Given the description of an element on the screen output the (x, y) to click on. 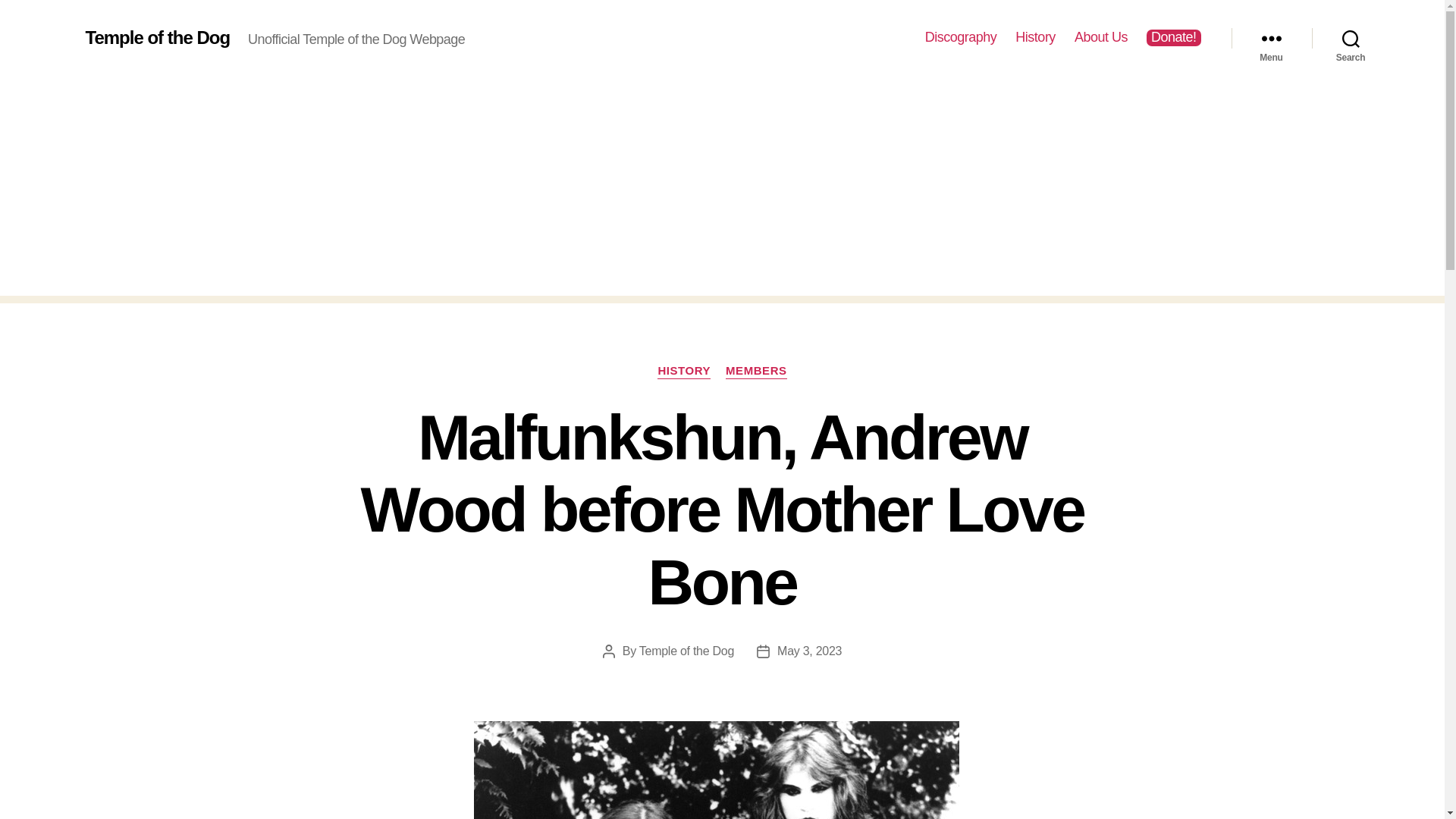
Temple of the Dog (157, 37)
MEMBERS (756, 371)
Donate! (1174, 37)
Temple of the Dog (686, 650)
May 3, 2023 (809, 650)
Menu (1271, 37)
Search (1350, 37)
History (1034, 37)
Discography (960, 37)
